Given the description of an element on the screen output the (x, y) to click on. 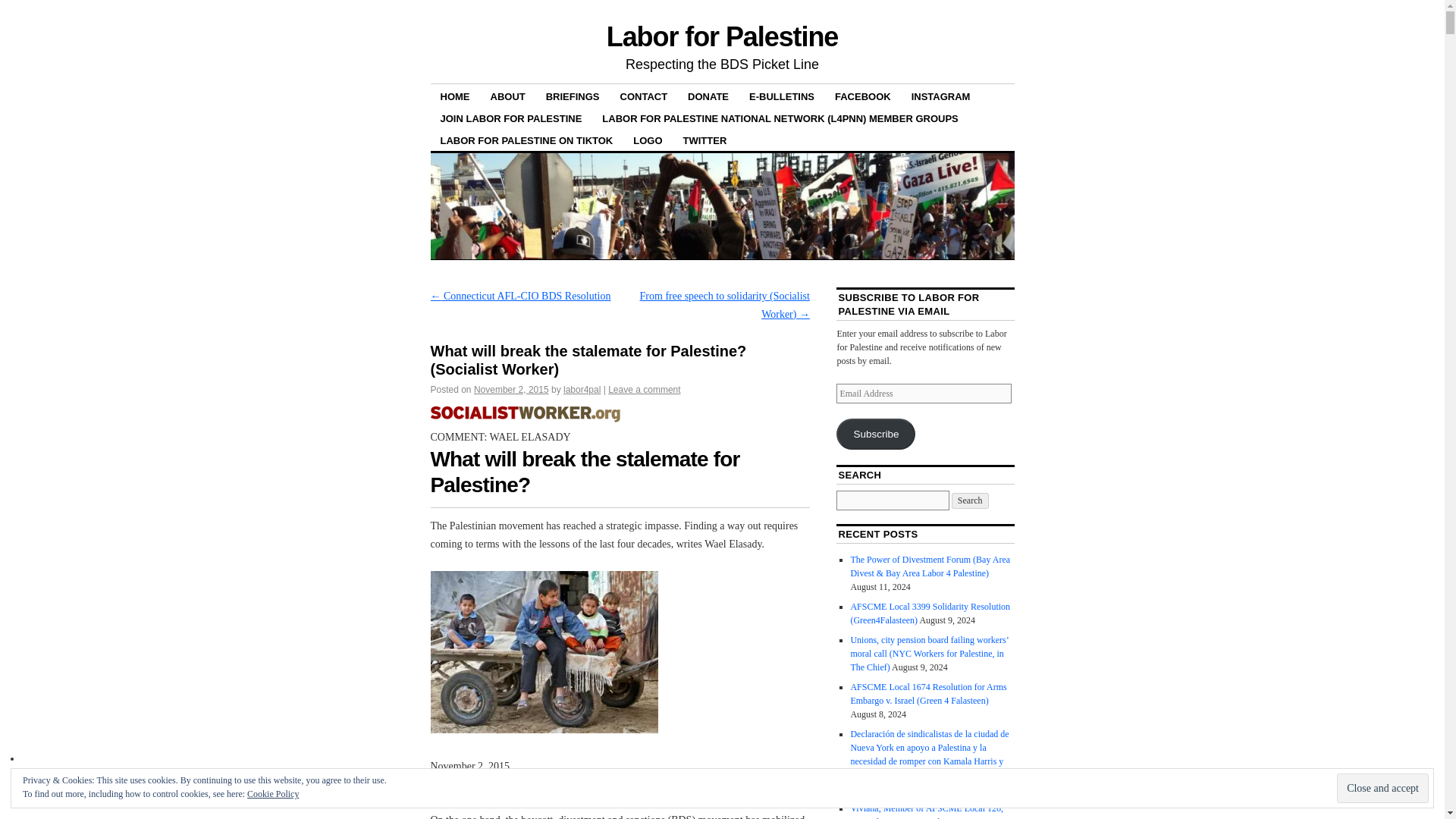
LABOR FOR PALESTINE ON TIKTOK (526, 139)
labor4pal (581, 389)
LOGO (647, 139)
Labor for Palestine (722, 36)
Search (970, 500)
ABOUT (507, 96)
Home (525, 419)
INSTAGRAM (940, 96)
E-BULLETINS (781, 96)
DONATE (708, 96)
